Given the description of an element on the screen output the (x, y) to click on. 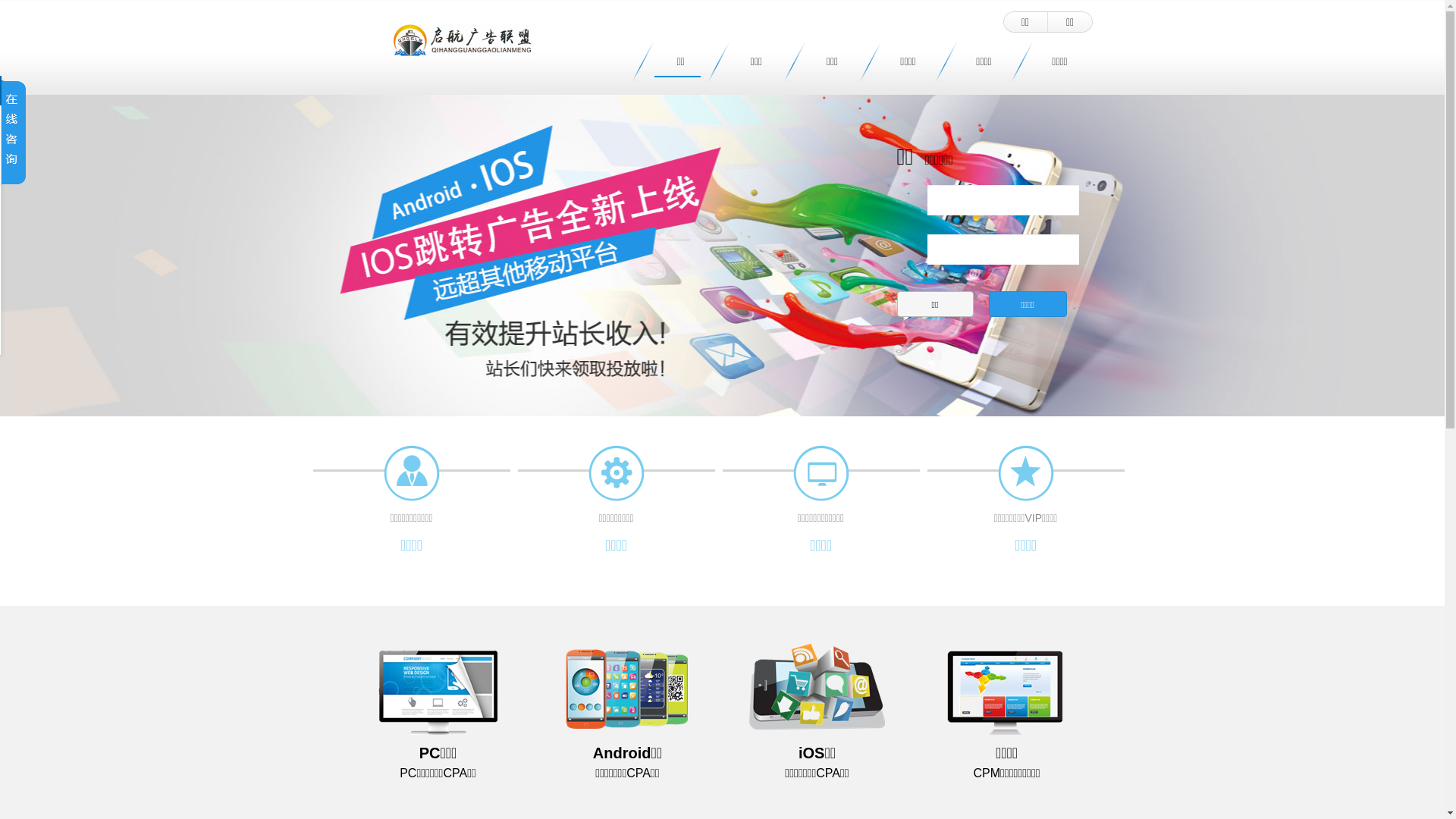
4 Element type: text (749, 403)
3 Element type: text (731, 403)
1 Element type: text (695, 403)
2 Element type: text (713, 403)
